Given the description of an element on the screen output the (x, y) to click on. 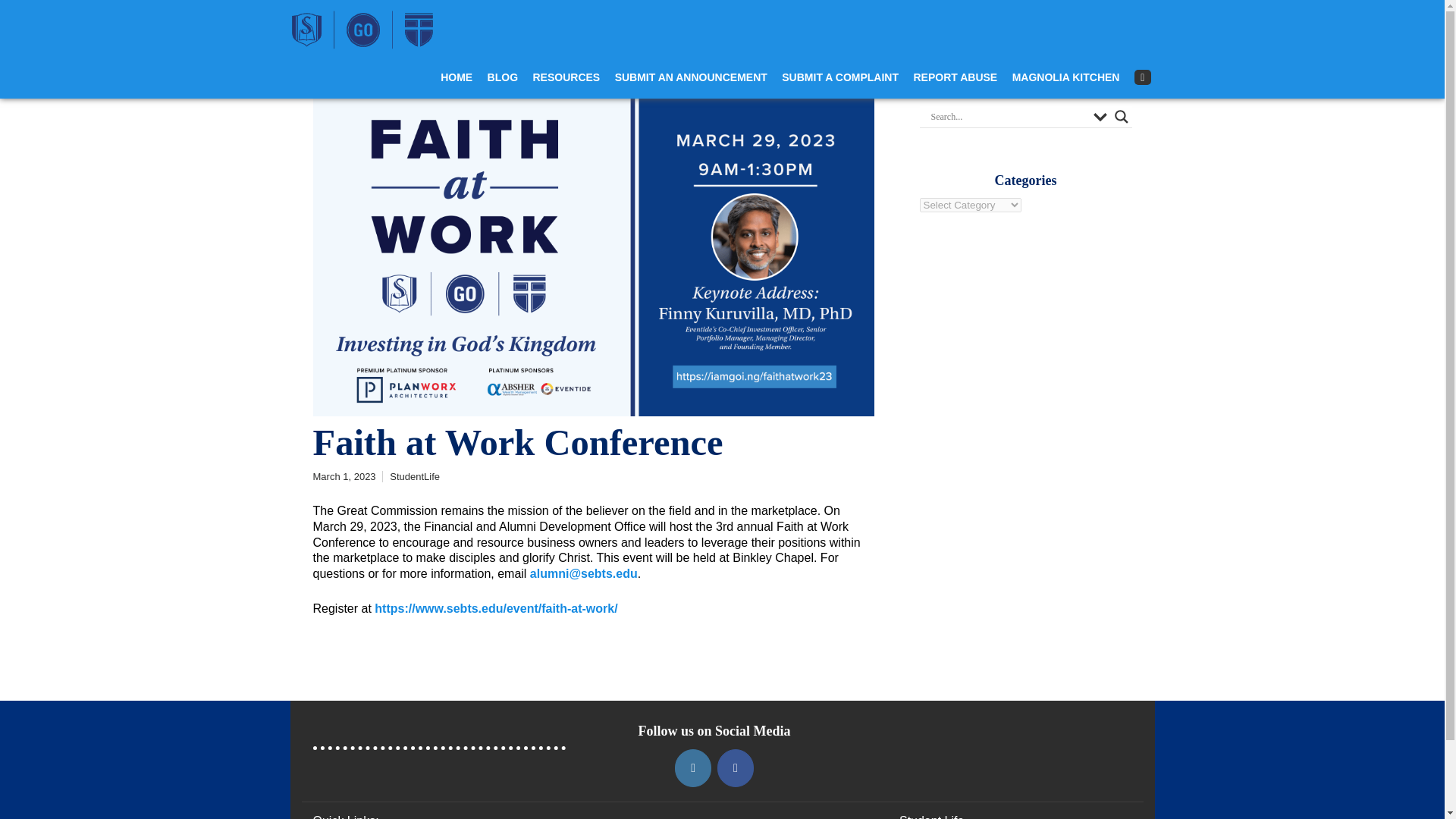
HOME (456, 77)
SUBMIT AN ANNOUNCEMENT (690, 77)
BLOG (502, 77)
Around Southeastern on Instagram (693, 768)
RESOURCES (565, 77)
Around Southeastern on Facebook (735, 768)
Posts by StudentLife (414, 476)
